Given the description of an element on the screen output the (x, y) to click on. 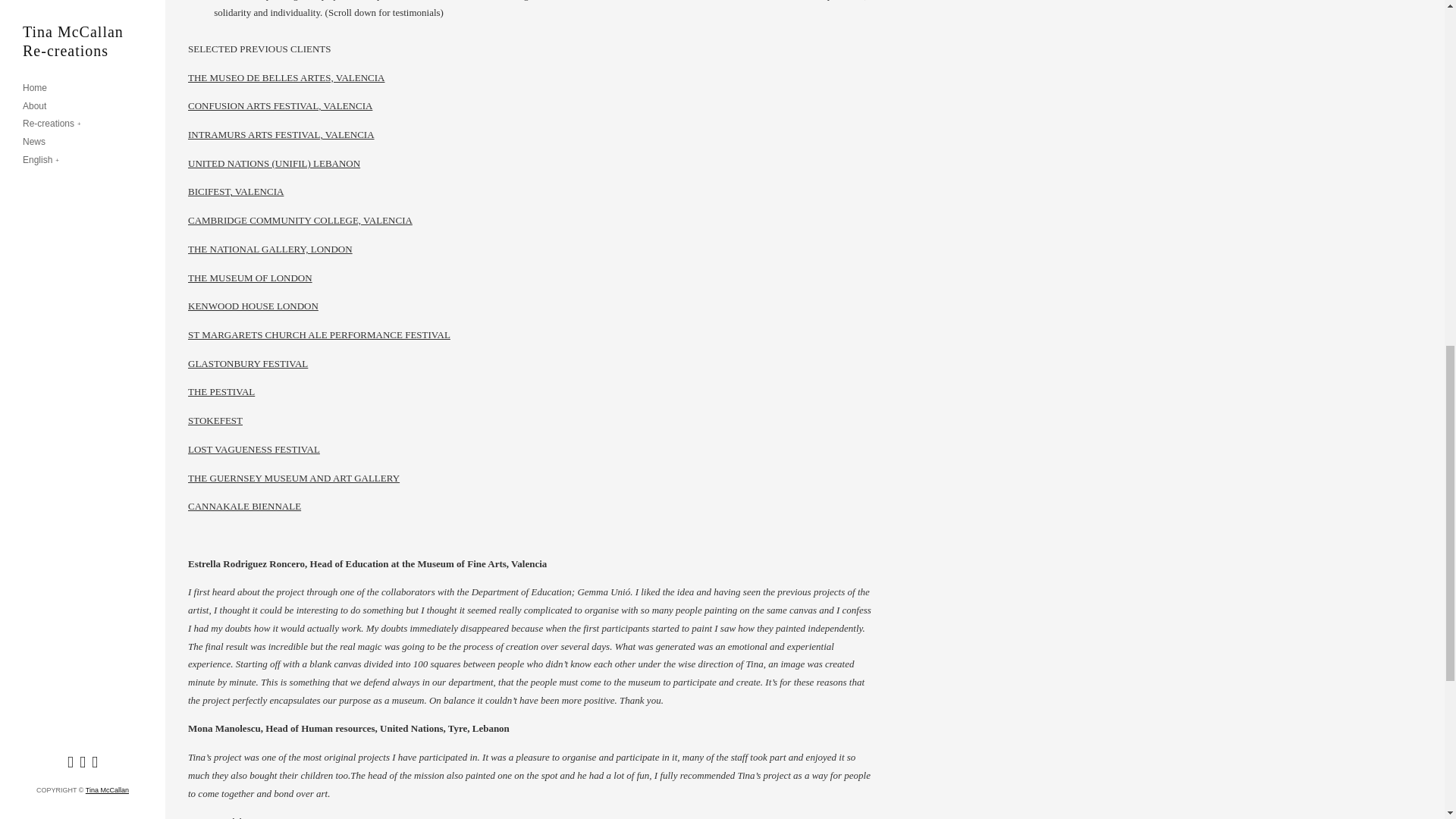
BICIFEST, VALENCIA (235, 191)
THE PESTIVAL (220, 391)
THE MUSEUM OF LONDON (250, 277)
CAMBRIDGE COMMUNITY COLLEGE, VALENCIA (299, 220)
CANNAKALE BIENNALE (244, 505)
THE GUERNSEY MUSEUM AND ART GALLERY (292, 478)
LOST VAGUENESS FESTIVAL (253, 449)
THE NATIONAL GALLERY, LONDON (269, 248)
INTRAMURS ARTS FESTIVAL, VALENCIA (280, 134)
THE MUSEO DE BELLES ARTES, VALENCIA (285, 77)
ST MARGARETS CHURCH ALE PERFORMANCE FESTIVAL (318, 334)
KENWOOD HOUSE LONDON (252, 306)
GLASTONBURY FESTIVAL (247, 363)
CONFUSION ARTS FESTIVAL, VALENCIA (279, 105)
STOKEFEST (215, 419)
